Given the description of an element on the screen output the (x, y) to click on. 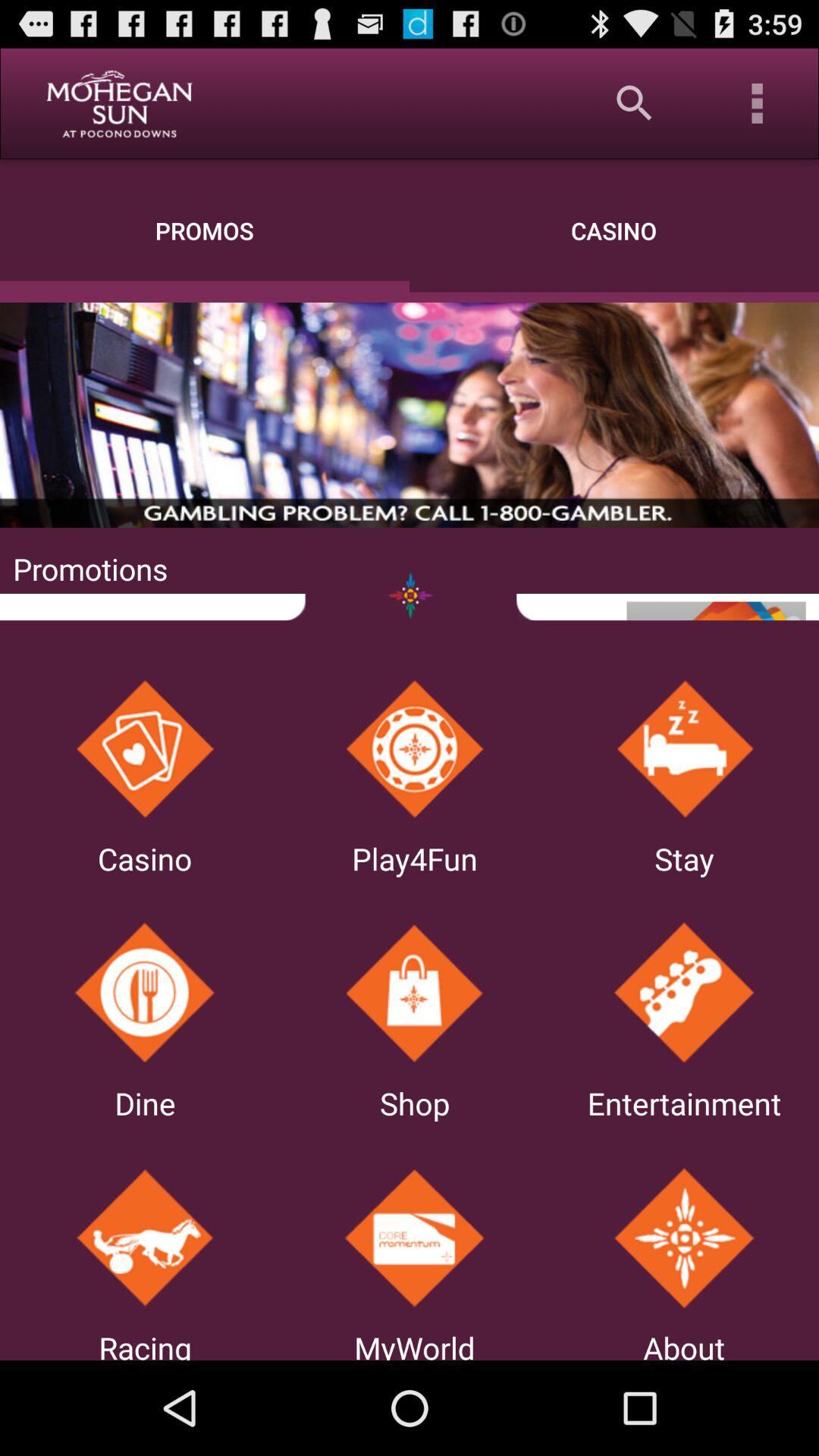
go to the search icon (634, 103)
select the logo of the web page (118, 103)
